Given the description of an element on the screen output the (x, y) to click on. 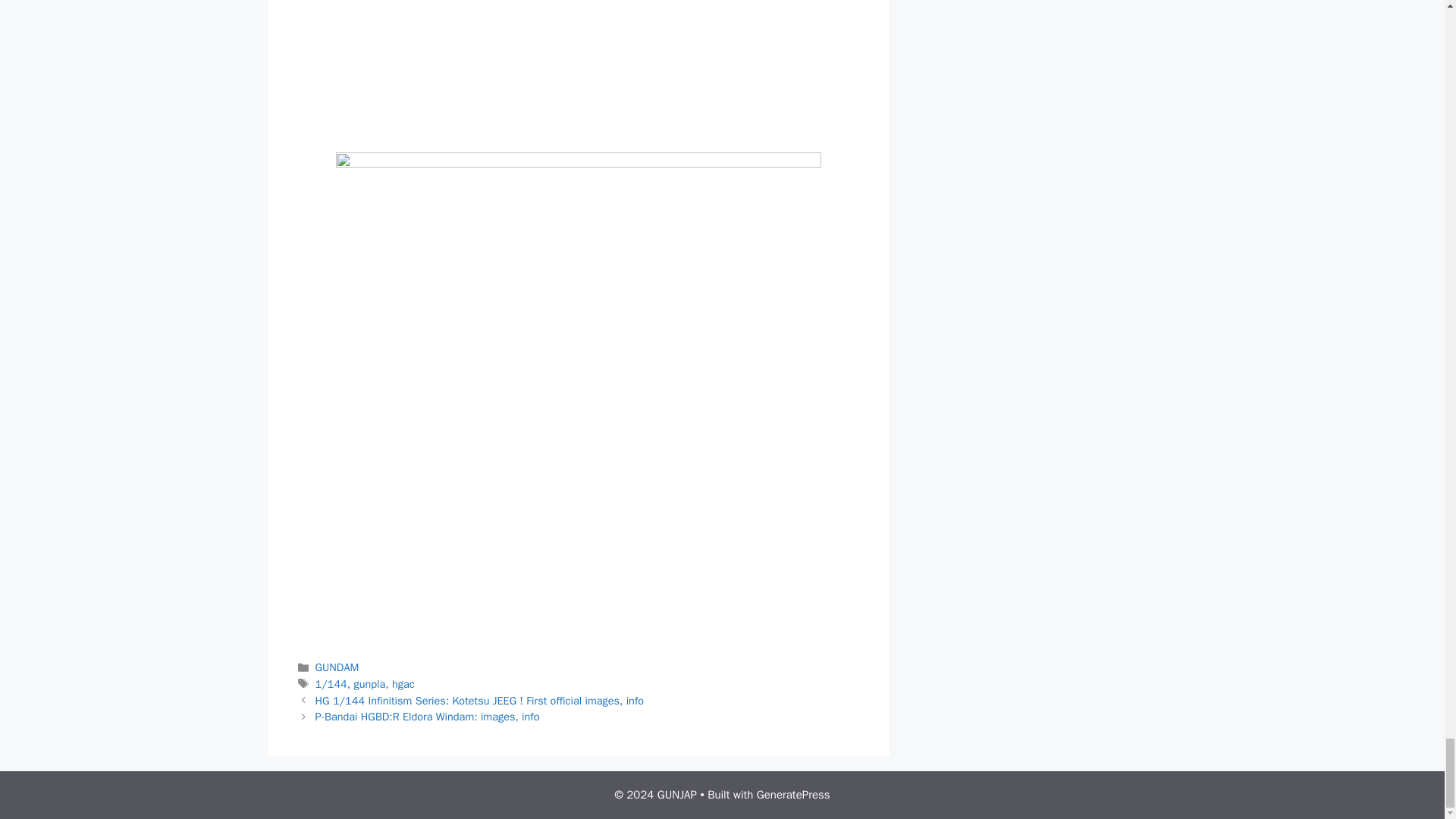
hgac (402, 684)
P-Bandai HGBD:R Eldora Windam: images, info (427, 716)
gunpla (369, 684)
GUNDAM (337, 667)
